Given the description of an element on the screen output the (x, y) to click on. 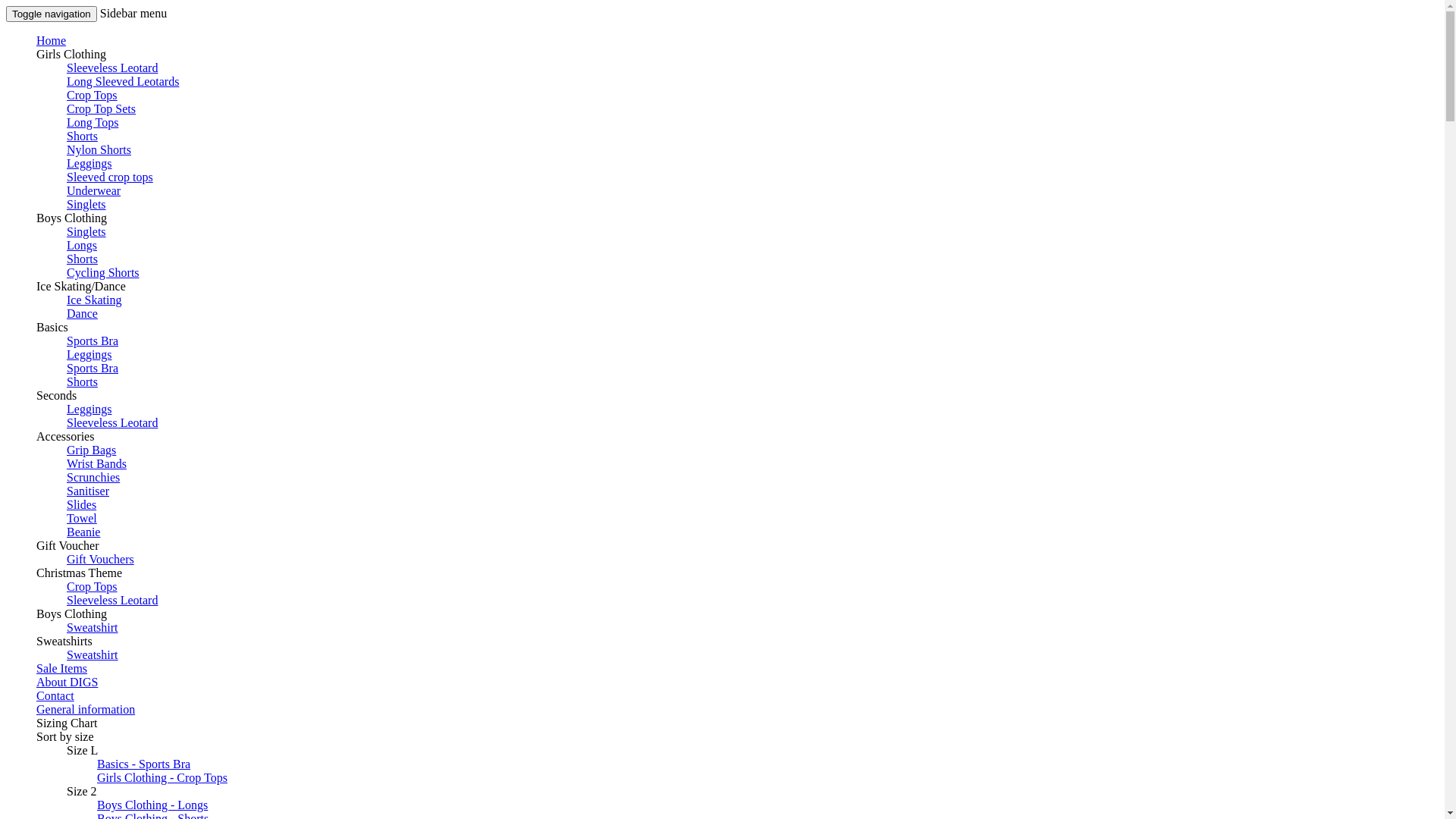
Shorts Element type: text (81, 258)
Sports Bra Element type: text (92, 367)
Leggings Element type: text (89, 408)
Girls Clothing Element type: text (71, 53)
Sweatshirt Element type: text (92, 654)
Accessories Element type: text (65, 435)
Basics Element type: text (52, 326)
Sweatshirts Element type: text (64, 640)
Crop Tops Element type: text (91, 94)
About DIGS Element type: text (66, 681)
Leggings Element type: text (89, 354)
Size 2 Element type: text (81, 790)
Towel Element type: text (81, 517)
Long Tops Element type: text (92, 122)
Contact Element type: text (55, 695)
Christmas Theme Element type: text (79, 572)
Cycling Shorts Element type: text (102, 272)
Sweatshirts Element type: text (64, 640)
Crop Top Sets Element type: text (100, 108)
Seconds Element type: text (56, 395)
Size L Element type: text (81, 749)
Ice Skating/Dance Element type: text (80, 285)
Seconds Element type: text (56, 395)
Grip Bags Element type: text (91, 449)
Leggings Element type: text (89, 162)
Sizing Chart Element type: text (66, 722)
Size L Element type: text (81, 749)
Slides Element type: text (81, 504)
Ice Skating Element type: text (93, 299)
Sports Bra Element type: text (92, 340)
Sleeveless Leotard Element type: text (111, 67)
Sleeveless Leotard Element type: text (111, 599)
Singlets Element type: text (86, 231)
Beanie Element type: text (83, 531)
Sort by size Element type: text (65, 736)
Gift Voucher Element type: text (67, 545)
Christmas Theme Element type: text (79, 572)
Dance Element type: text (81, 313)
Gift Voucher Element type: text (67, 545)
Shorts Element type: text (81, 381)
Size 2 Element type: text (81, 790)
Home Element type: text (50, 40)
Basics Element type: text (52, 326)
Ice Skating/Dance Element type: text (80, 285)
Nylon Shorts Element type: text (98, 149)
Long Sleeved Leotards Element type: text (122, 81)
Girls Clothing - Crop Tops Element type: text (162, 777)
Longs Element type: text (81, 244)
Sort by size Element type: text (65, 736)
Boys Clothing Element type: text (71, 217)
Sanitiser Element type: text (87, 490)
Sweatshirt Element type: text (92, 627)
Singlets Element type: text (86, 203)
Underwear Element type: text (93, 190)
Accessories Element type: text (65, 435)
Scrunchies Element type: text (92, 476)
Toggle navigation Element type: text (51, 13)
Sleeved crop tops Element type: text (109, 176)
Wrist Bands Element type: text (96, 463)
Basics - Sports Bra Element type: text (143, 763)
Gift Vouchers Element type: text (100, 558)
Sleeveless Leotard Element type: text (111, 422)
General information Element type: text (85, 708)
Boys Clothing Element type: text (71, 217)
Boys Clothing Element type: text (71, 613)
Shorts Element type: text (81, 135)
Girls Clothing Element type: text (71, 53)
Crop Tops Element type: text (91, 586)
Boys Clothing Element type: text (71, 613)
Sale Items Element type: text (61, 668)
